Given the description of an element on the screen output the (x, y) to click on. 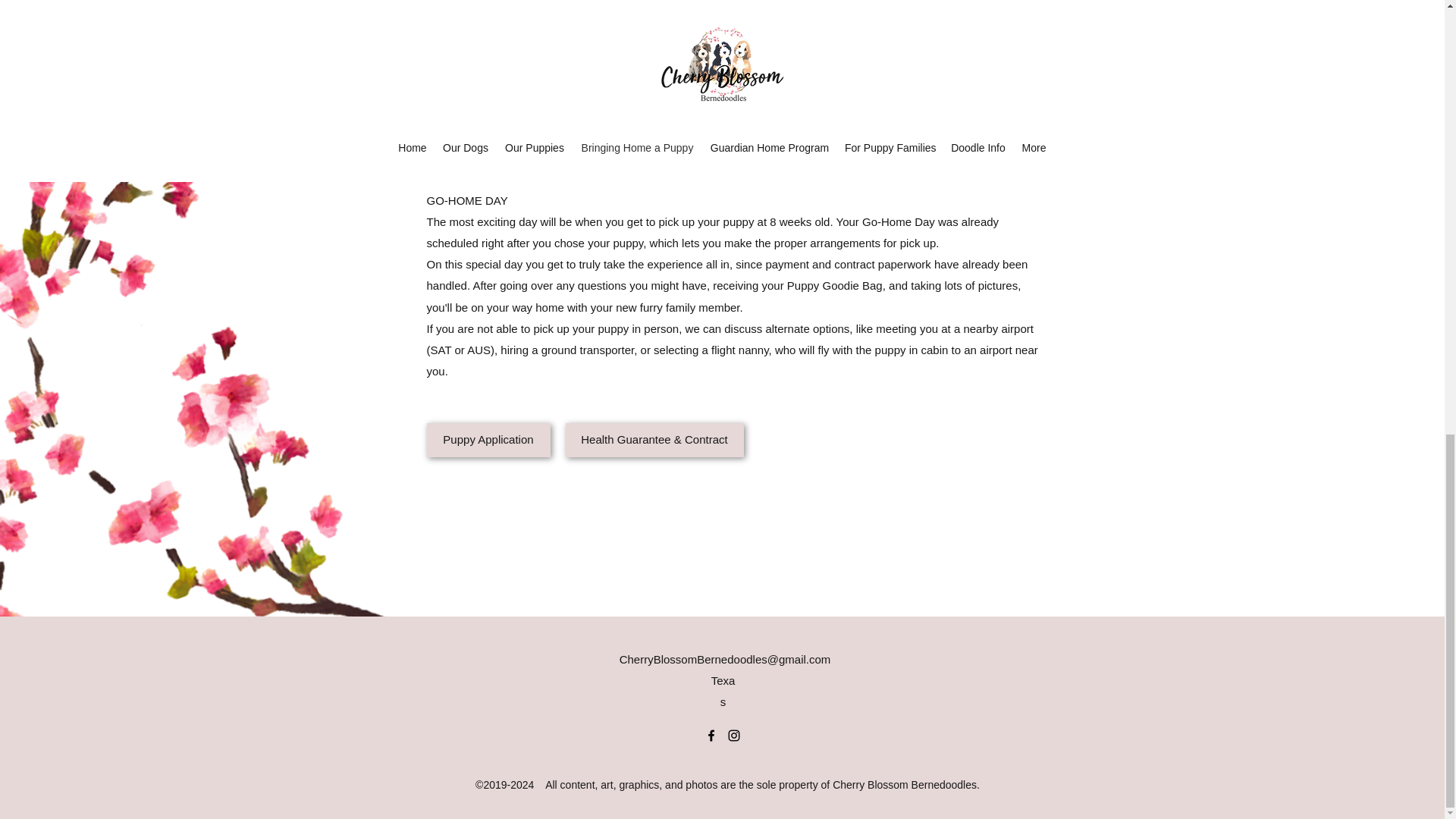
Puppy Application (488, 440)
